Given the description of an element on the screen output the (x, y) to click on. 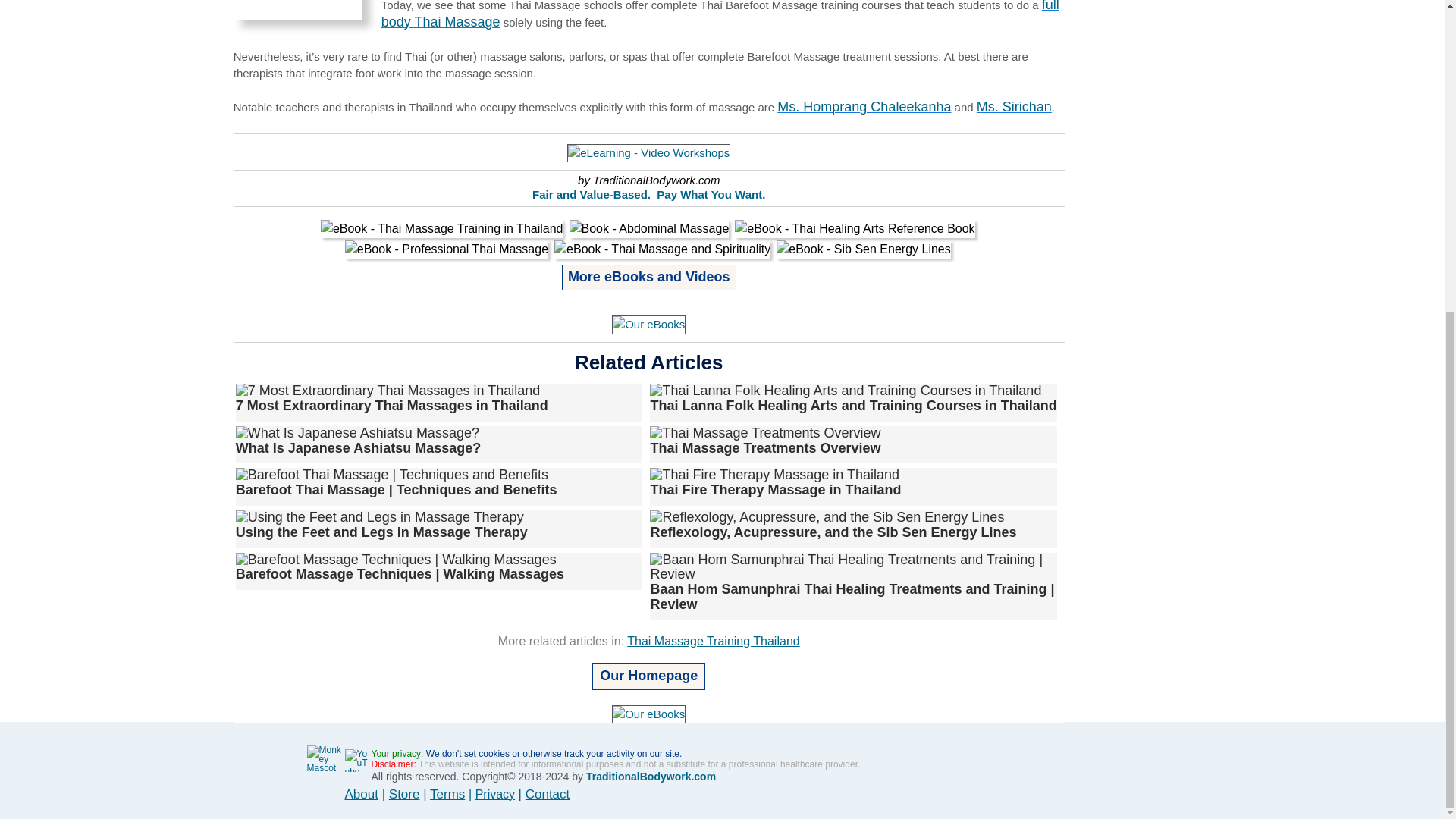
Ms. Sirichan (1013, 106)
More eBooks and Videos (649, 276)
full body Thai Massage (720, 14)
eBook - Professional Thai Massage (446, 249)
eBook - Thai Massage and Spirituality (662, 249)
Thai Fire Therapy Massage in Thailand (775, 481)
Ms. Homprang Chaleekanha (863, 106)
What Is Japanese Ashiatsu Massage? (357, 433)
What Is Japanese Ashiatsu Massage? (357, 440)
